Given the description of an element on the screen output the (x, y) to click on. 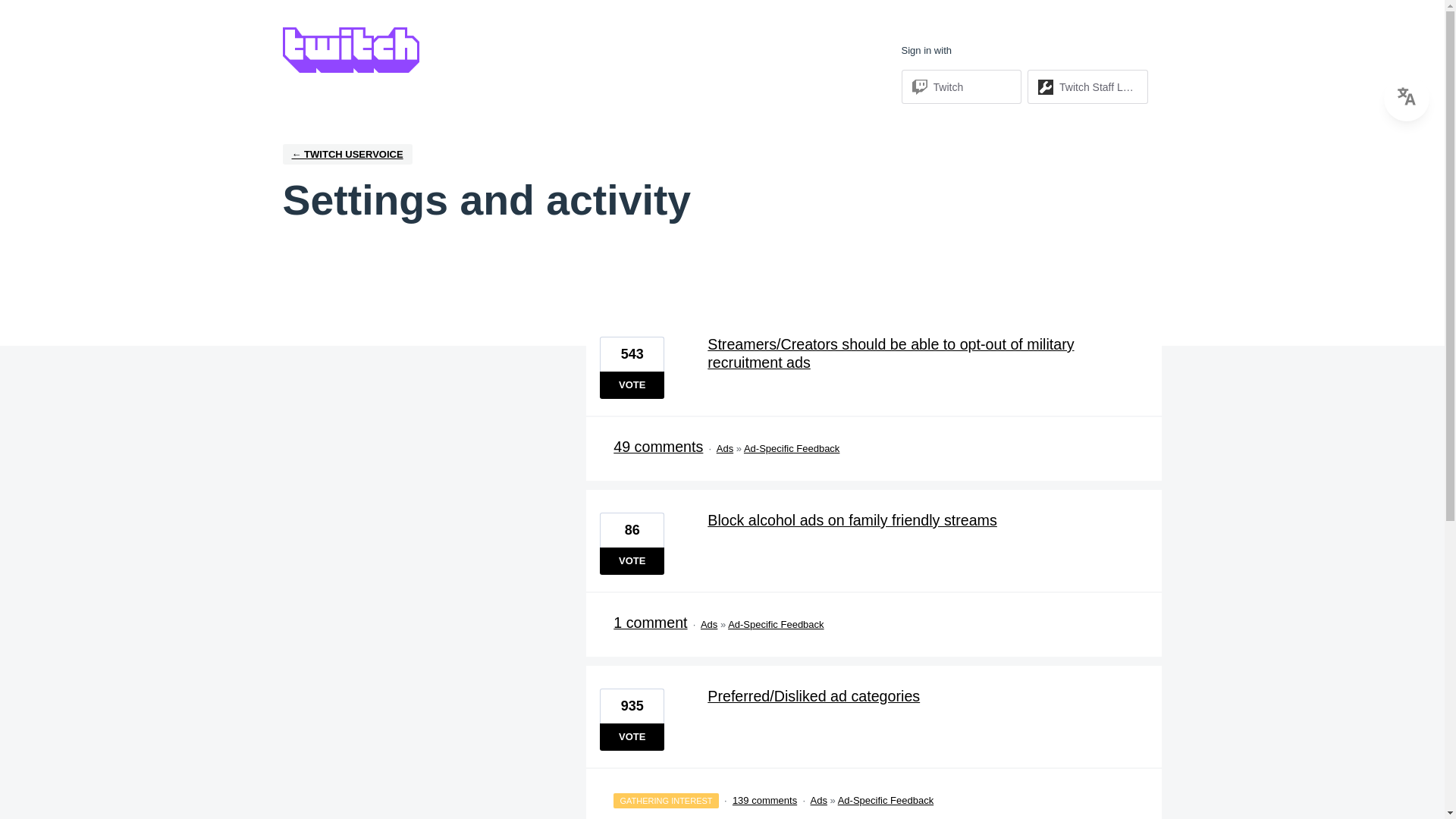
Twitch (947, 85)
Twitch UserVoice (347, 154)
Twitch UserVoice (350, 49)
Twitch sign in (961, 86)
Twitch Staff Login (1098, 85)
Twitch Staff Login sign in (1087, 86)
